Given the description of an element on the screen output the (x, y) to click on. 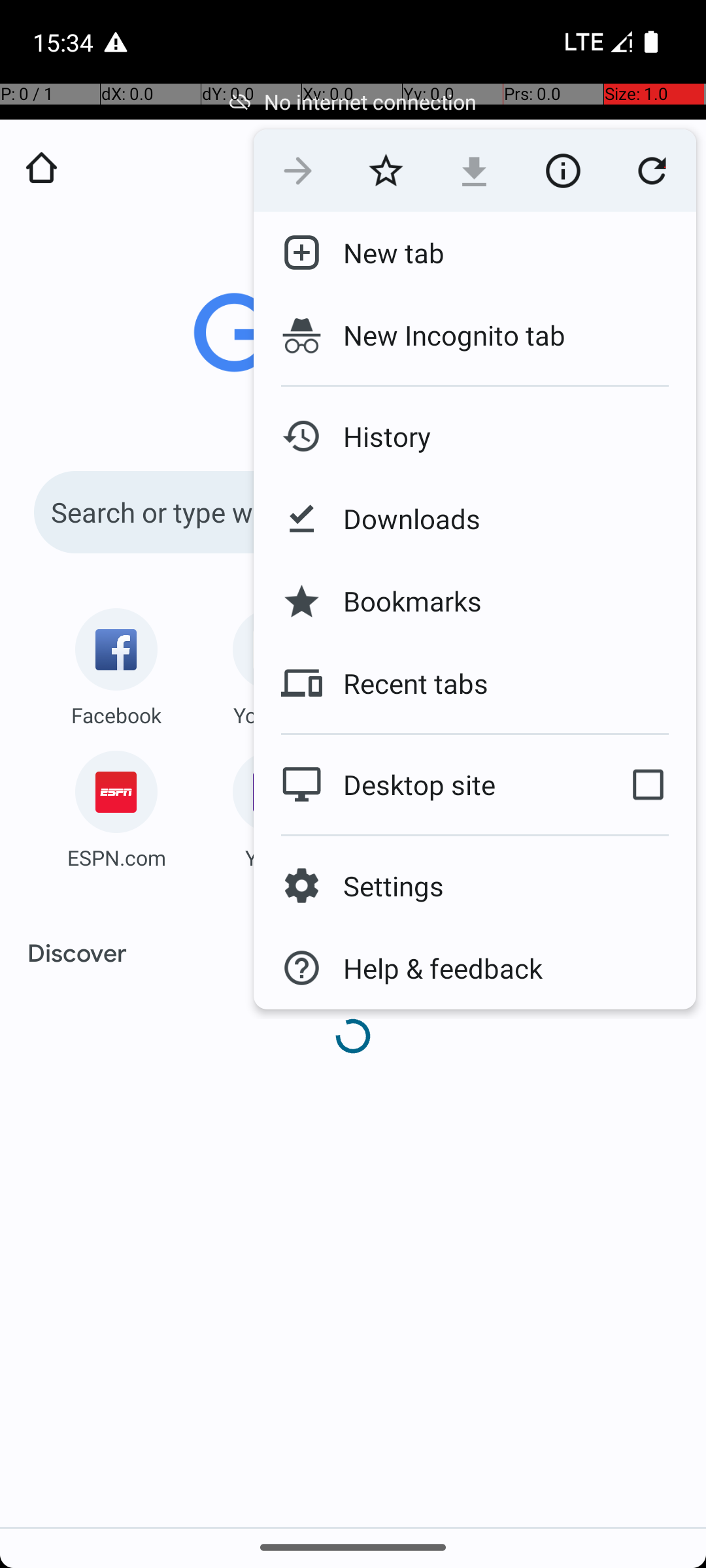
Forward Element type: android.widget.ImageButton (297, 170)
Bookmark Element type: android.widget.ImageButton (385, 170)
Download Element type: android.widget.ImageButton (474, 170)
Page info Element type: android.widget.ImageButton (562, 170)
Refresh Element type: android.widget.ImageButton (651, 170)
New tab Element type: android.widget.TextView (383, 252)
New Incognito tab Element type: android.widget.TextView (474, 335)
History Element type: android.widget.TextView (376, 436)
Downloads Element type: android.widget.TextView (401, 518)
Bookmarks Element type: android.widget.TextView (401, 600)
Recent tabs Element type: android.widget.TextView (405, 683)
Desktop site Element type: android.widget.TextView (426, 784)
Settings Element type: android.widget.TextView (382, 885)
Help & feedback Element type: android.widget.TextView (432, 968)
Phone one bar. Element type: android.widget.FrameLayout (595, 41)
